Given the description of an element on the screen output the (x, y) to click on. 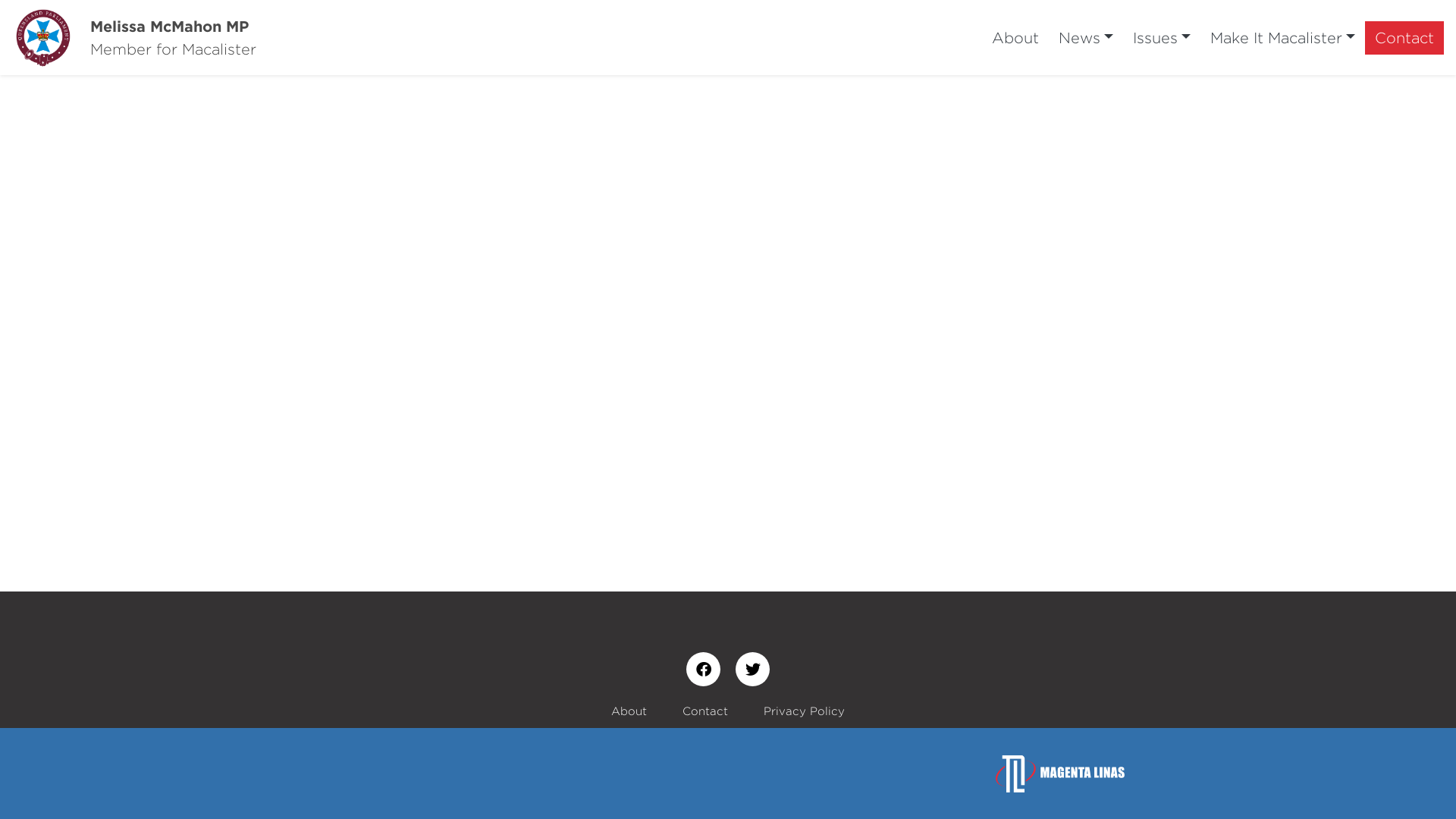
Issues Element type: text (1161, 37)
Contact Element type: text (1404, 37)
About Element type: text (628, 711)
Contact Element type: text (704, 711)
About Element type: text (1015, 37)
Privacy Policy Element type: text (803, 711)
News Element type: text (1085, 37)
Make It Macalister Element type: text (1282, 37)
